Given the description of an element on the screen output the (x, y) to click on. 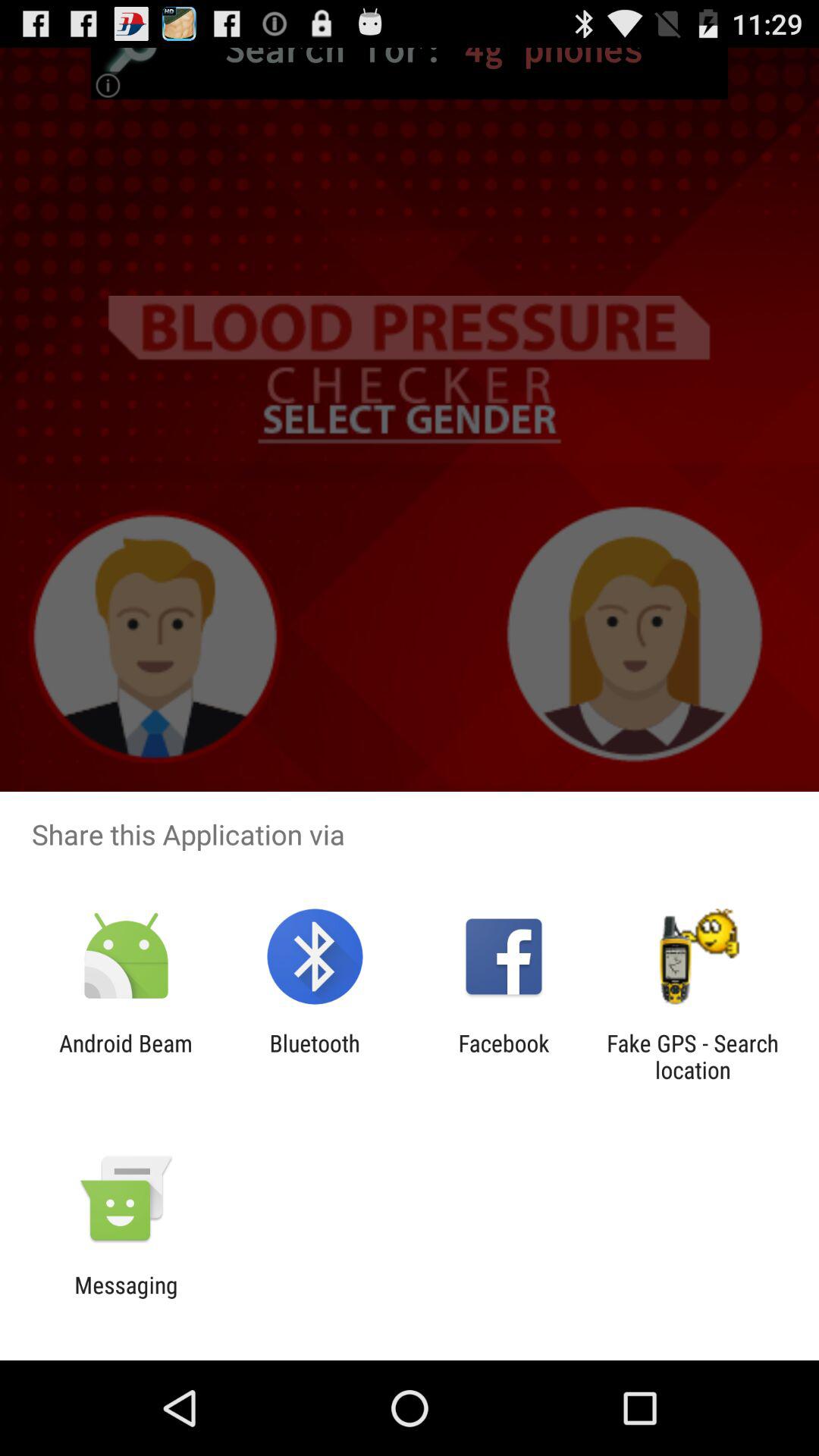
flip until facebook icon (503, 1056)
